Given the description of an element on the screen output the (x, y) to click on. 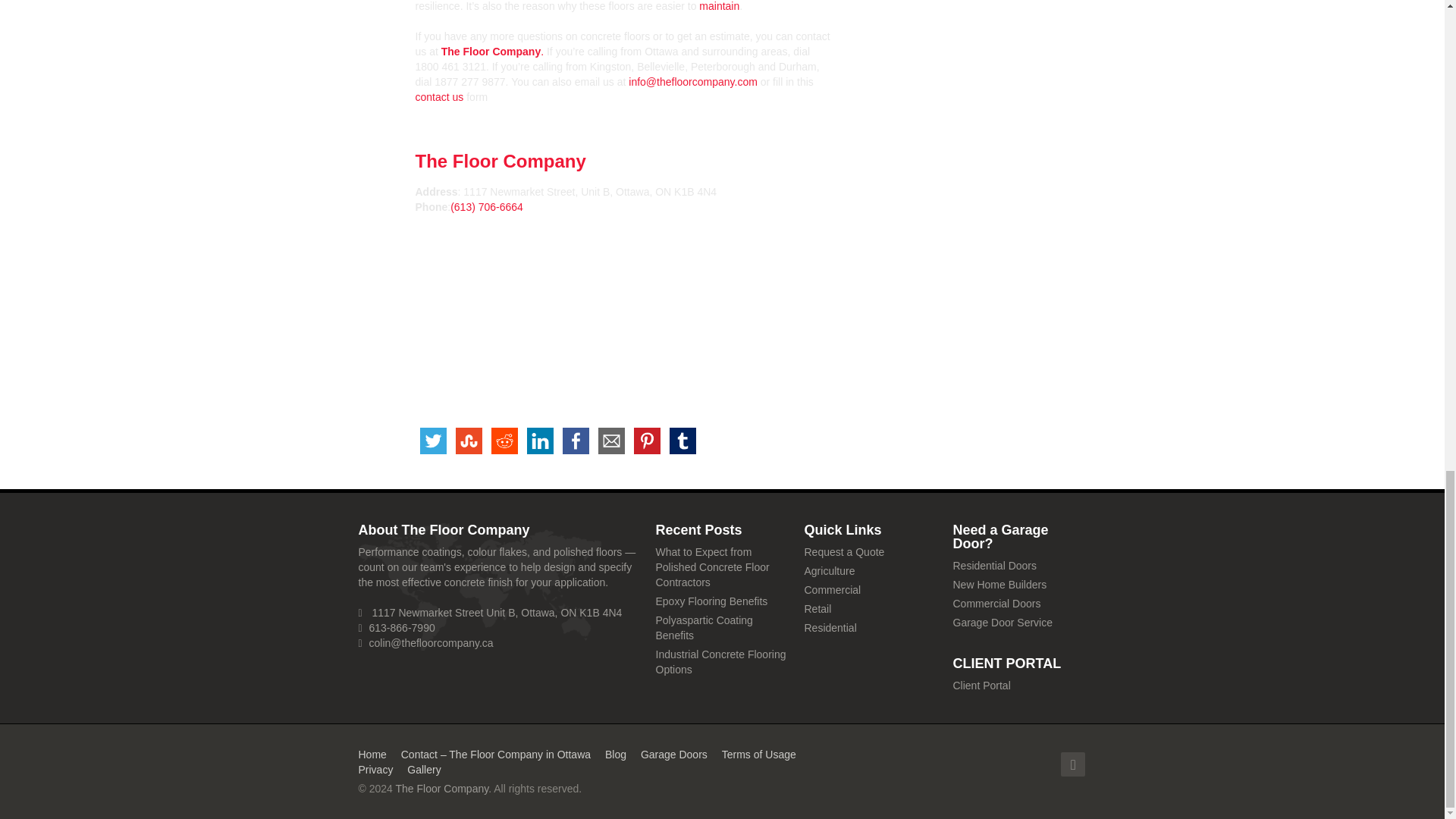
Twitter (432, 440)
Call via Hangouts (485, 206)
LinkedIn (539, 440)
Email (610, 440)
Pinterest (646, 440)
Reddit (504, 440)
StumbleUpon (467, 440)
Facebook (575, 440)
